Given the description of an element on the screen output the (x, y) to click on. 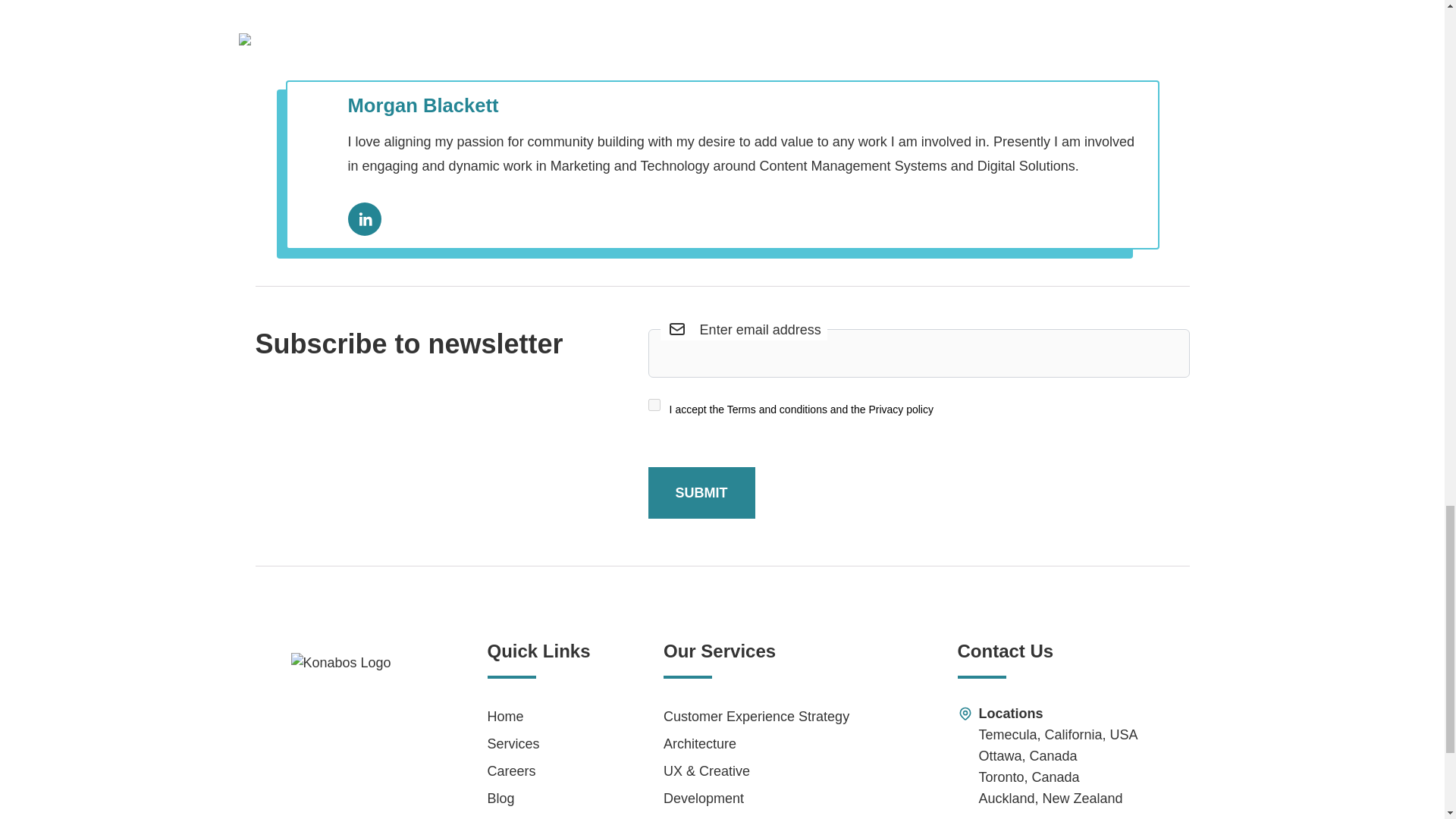
SUBMIT (701, 492)
Home (545, 716)
Services (545, 743)
on (654, 404)
Konabos Logo (369, 731)
